Given the description of an element on the screen output the (x, y) to click on. 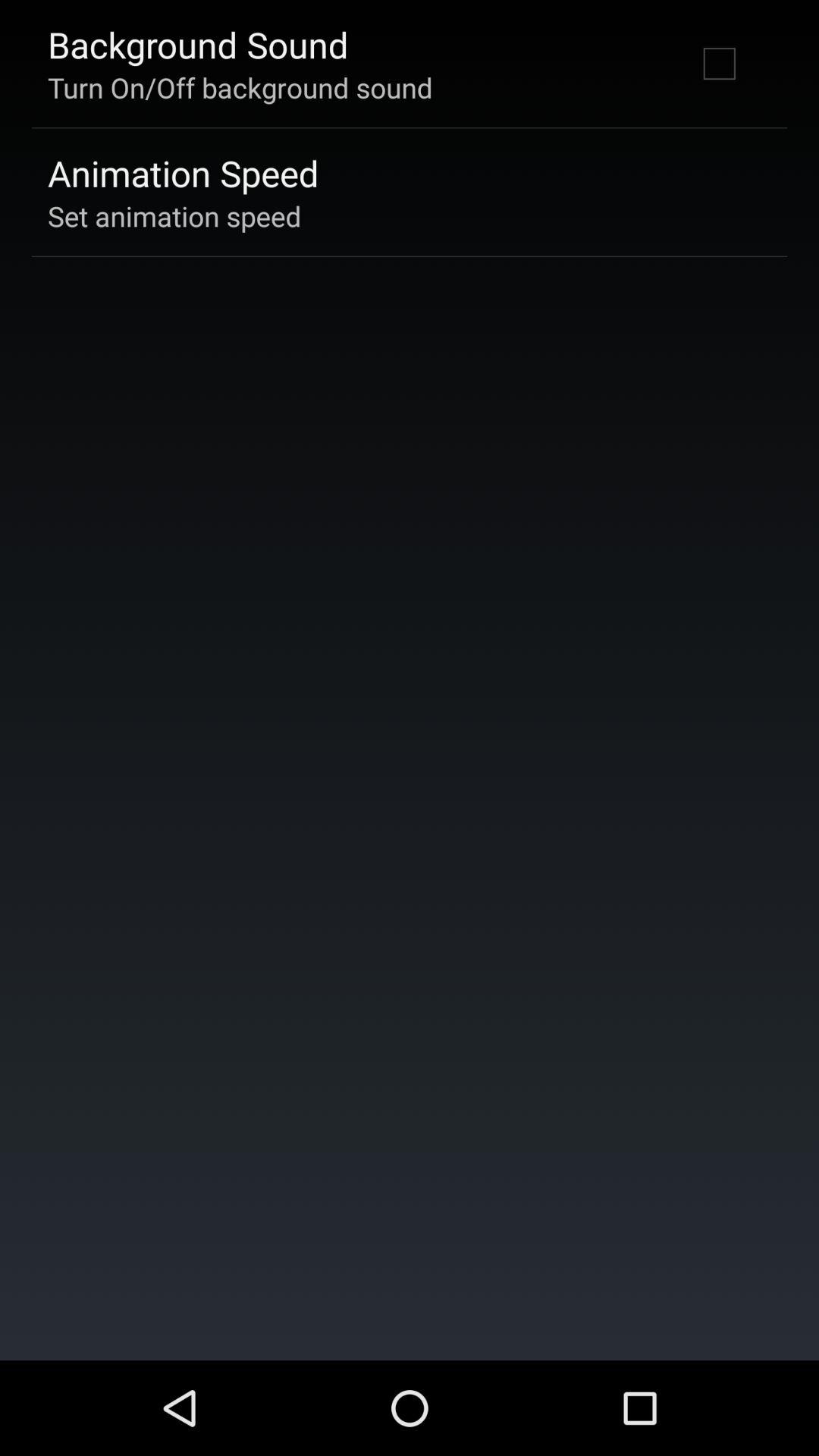
choose the icon at the top right corner (719, 63)
